Given the description of an element on the screen output the (x, y) to click on. 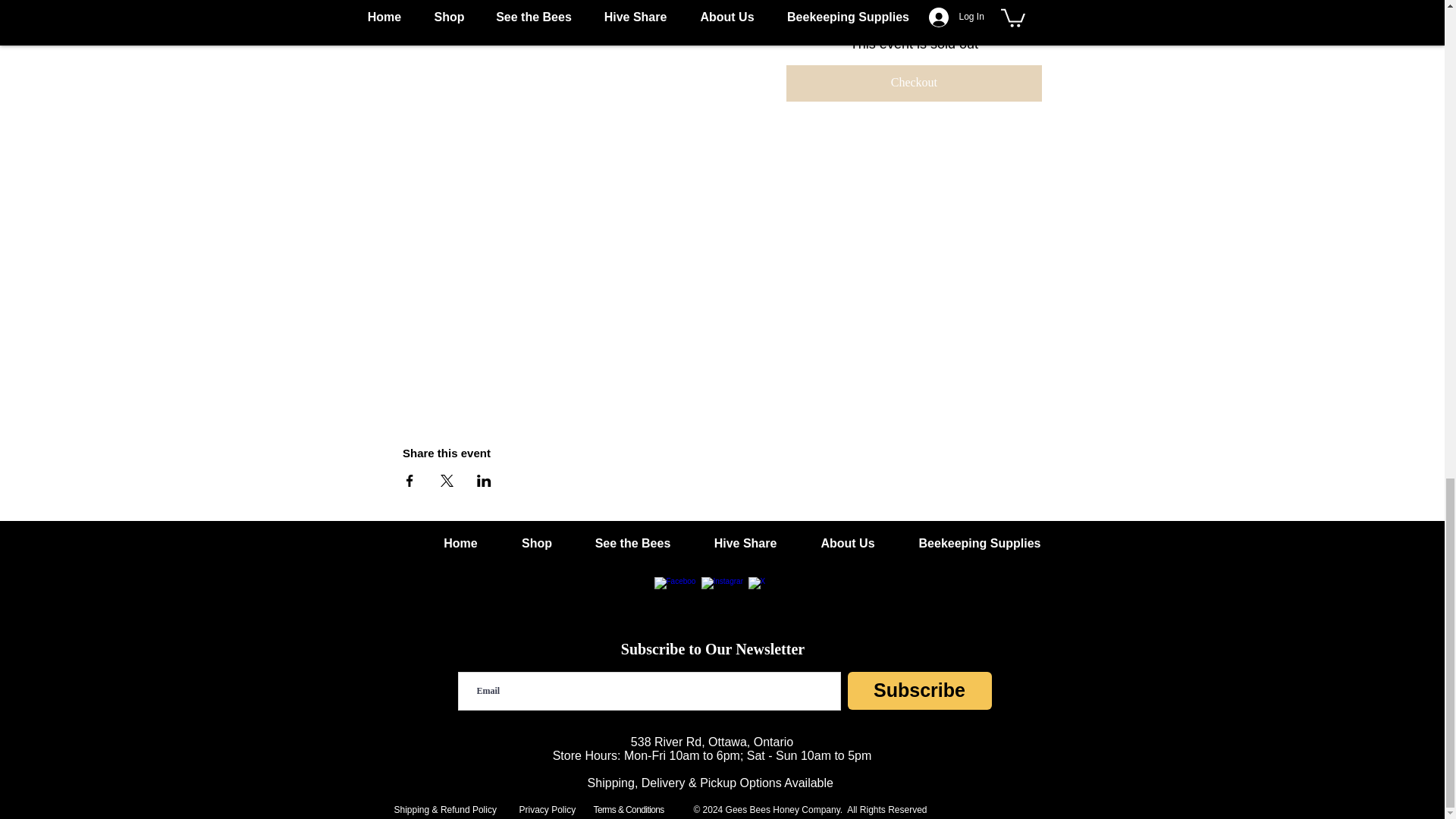
Hive Share (744, 543)
About Us (847, 543)
Shop (536, 543)
Home (461, 543)
See the Bees (632, 543)
Checkout (914, 83)
